Given the description of an element on the screen output the (x, y) to click on. 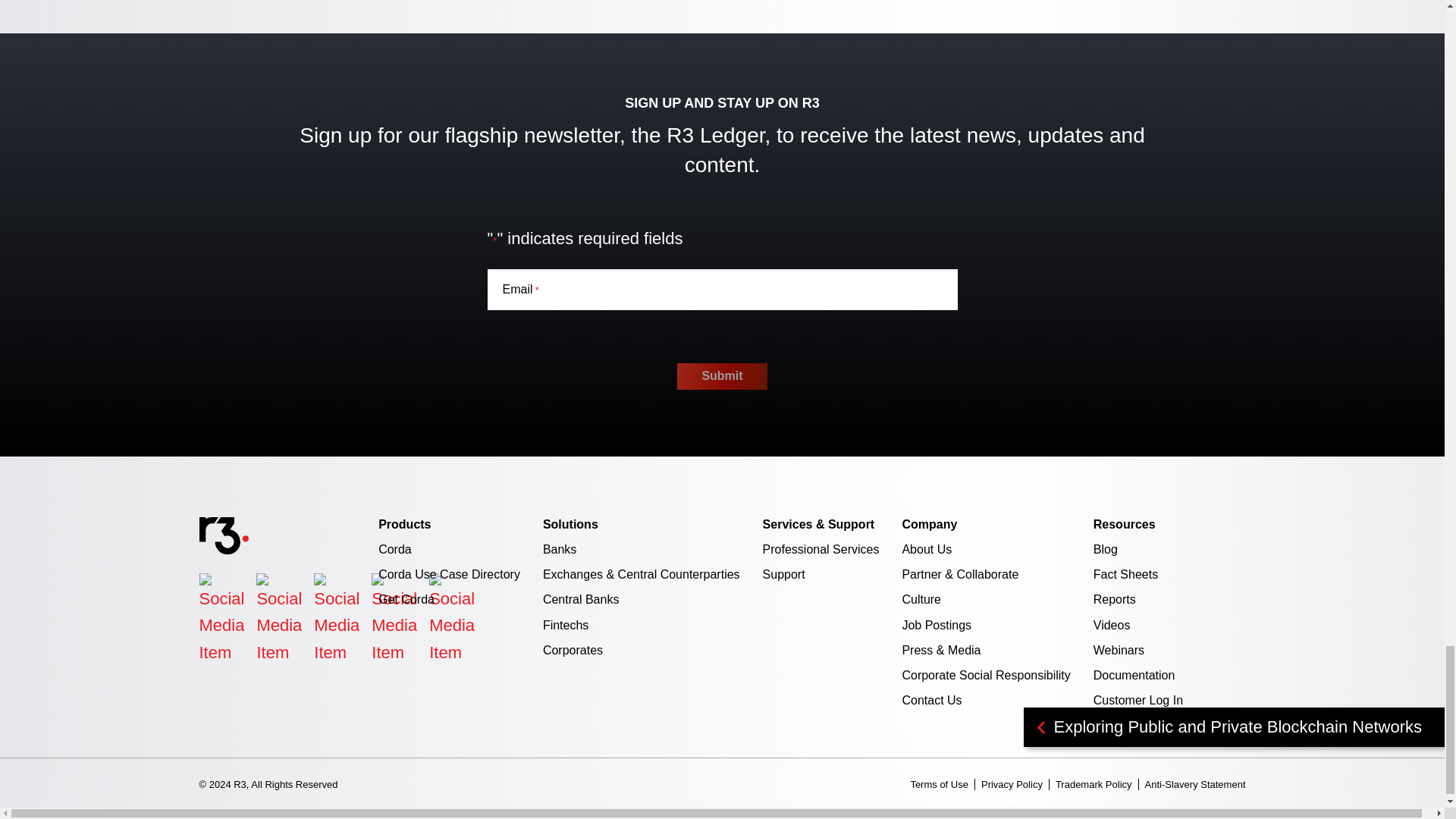
Submit (722, 376)
